Given the description of an element on the screen output the (x, y) to click on. 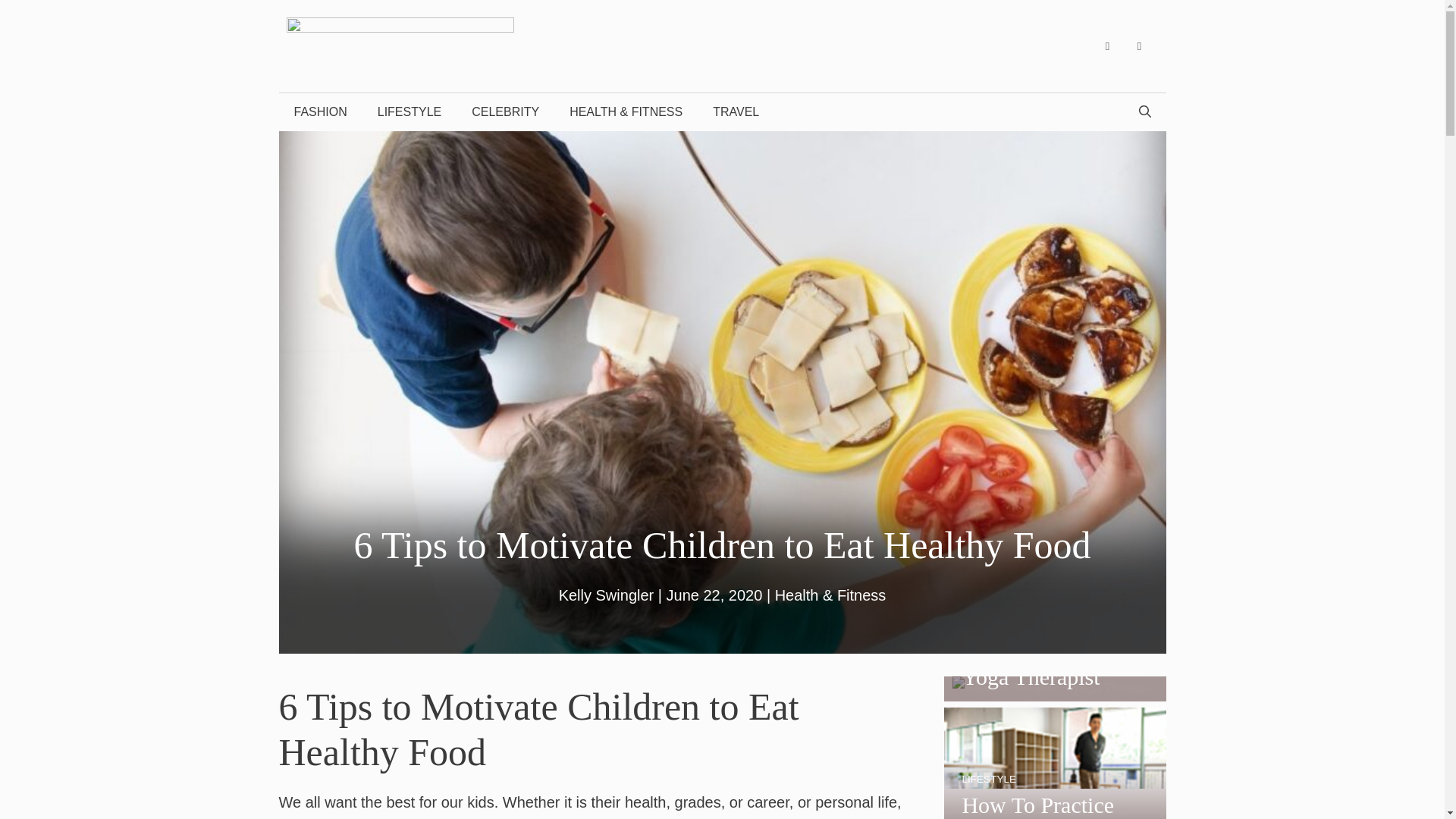
Facebook (1107, 45)
View all posts by Kelly Swingler (606, 595)
How To Become A Yoga Therapist (1047, 663)
Kelly Swingler (606, 595)
CELEBRITY (505, 112)
LIFESTYLE (409, 112)
How To Practice Yoga As A Christian (1053, 805)
TRAVEL (735, 112)
How To Become A Yoga Therapist (1055, 687)
Twitter (1139, 45)
FASHION (320, 112)
LIFESTYLE (988, 778)
